Given the description of an element on the screen output the (x, y) to click on. 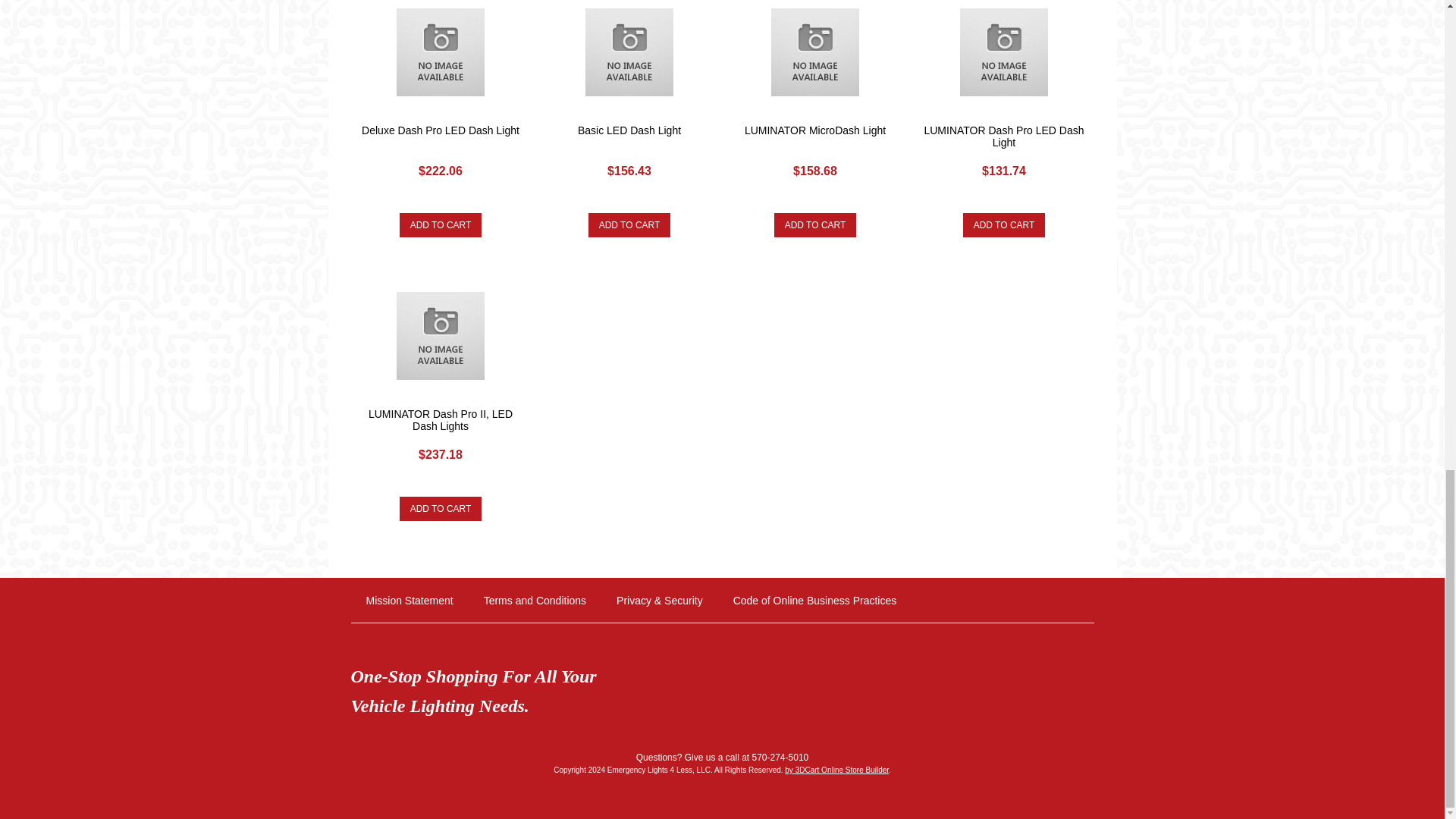
Add To Cart (439, 508)
Add To Cart (815, 224)
Add To Cart (629, 224)
Add To Cart (1003, 224)
Add To Cart (439, 224)
